Given the description of an element on the screen output the (x, y) to click on. 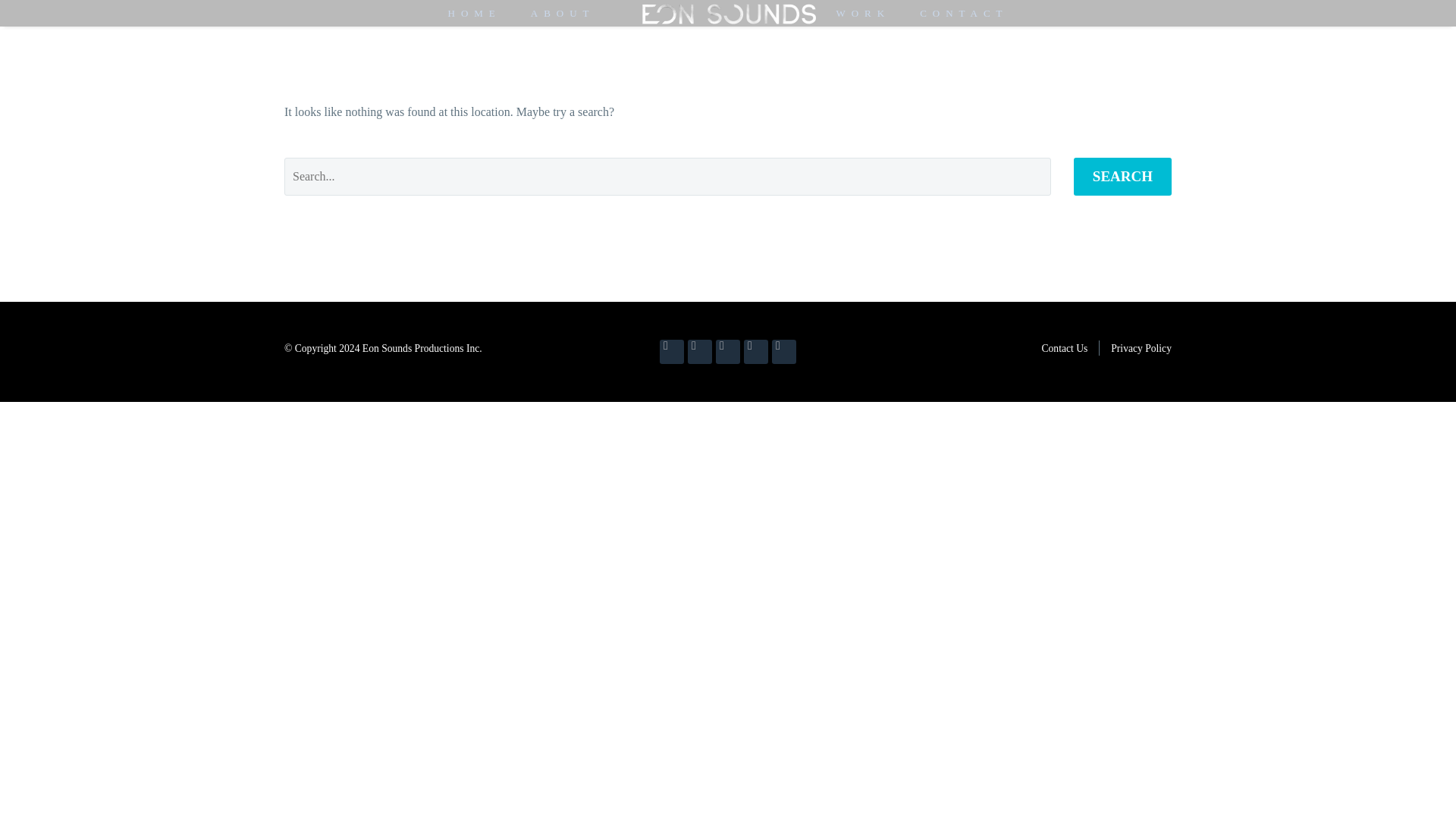
WORK (862, 13)
CONTACT (963, 13)
SEARCH (1123, 176)
Contact Us (1064, 348)
ABOUT (563, 13)
Privacy Policy (1141, 348)
HOME (473, 13)
